Given the description of an element on the screen output the (x, y) to click on. 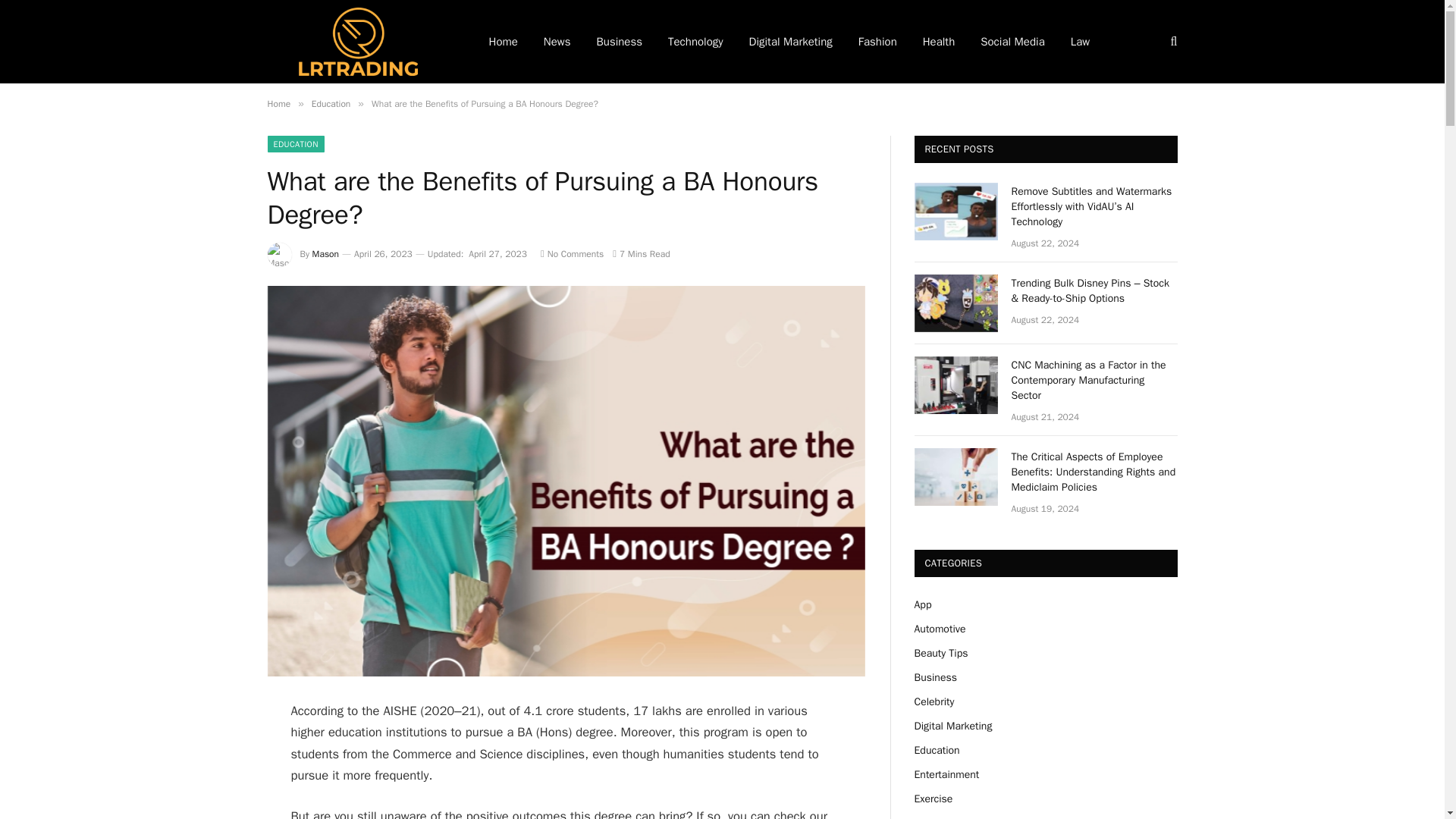
No Comments (572, 254)
Home (277, 103)
Mason (326, 254)
Technology (695, 41)
Digital Marketing (790, 41)
Education (330, 103)
lrtrading.biz (357, 41)
